Given the description of an element on the screen output the (x, y) to click on. 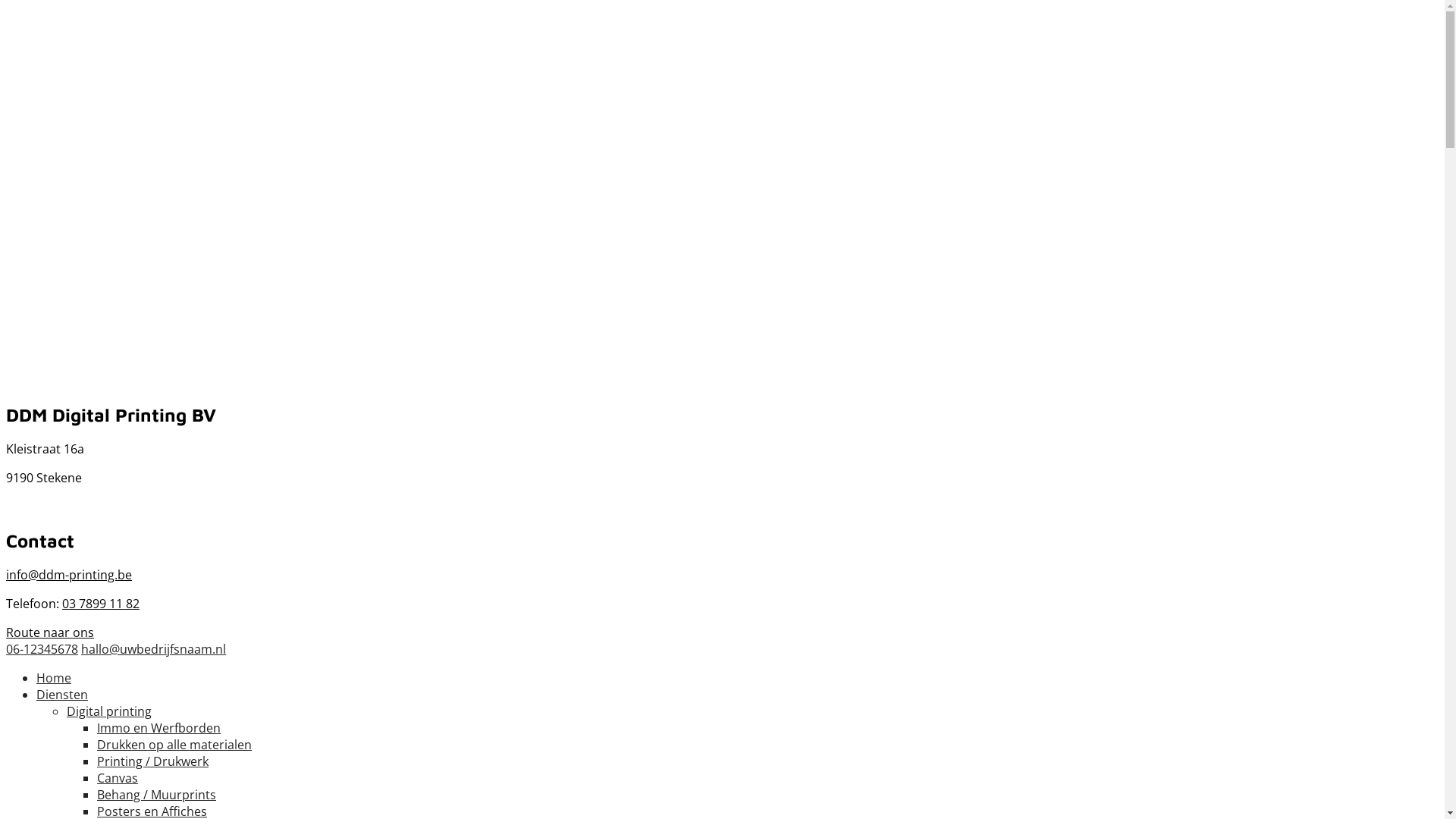
Home Element type: text (53, 677)
info@ddm-printing.be Element type: text (68, 574)
Canvas Element type: text (117, 777)
Printing / Drukwerk Element type: text (152, 761)
hallo@uwbedrijfsnaam.nl Element type: text (153, 648)
06-12345678 Element type: text (42, 648)
Diensten Element type: text (61, 694)
Digital printing Element type: text (108, 710)
Route naar ons Element type: text (50, 632)
Immo en Werfborden Element type: text (158, 727)
Behang / Muurprints Element type: text (156, 794)
03 7899 11 82 Element type: text (100, 603)
Drukken op alle materialen Element type: text (174, 744)
